Given the description of an element on the screen output the (x, y) to click on. 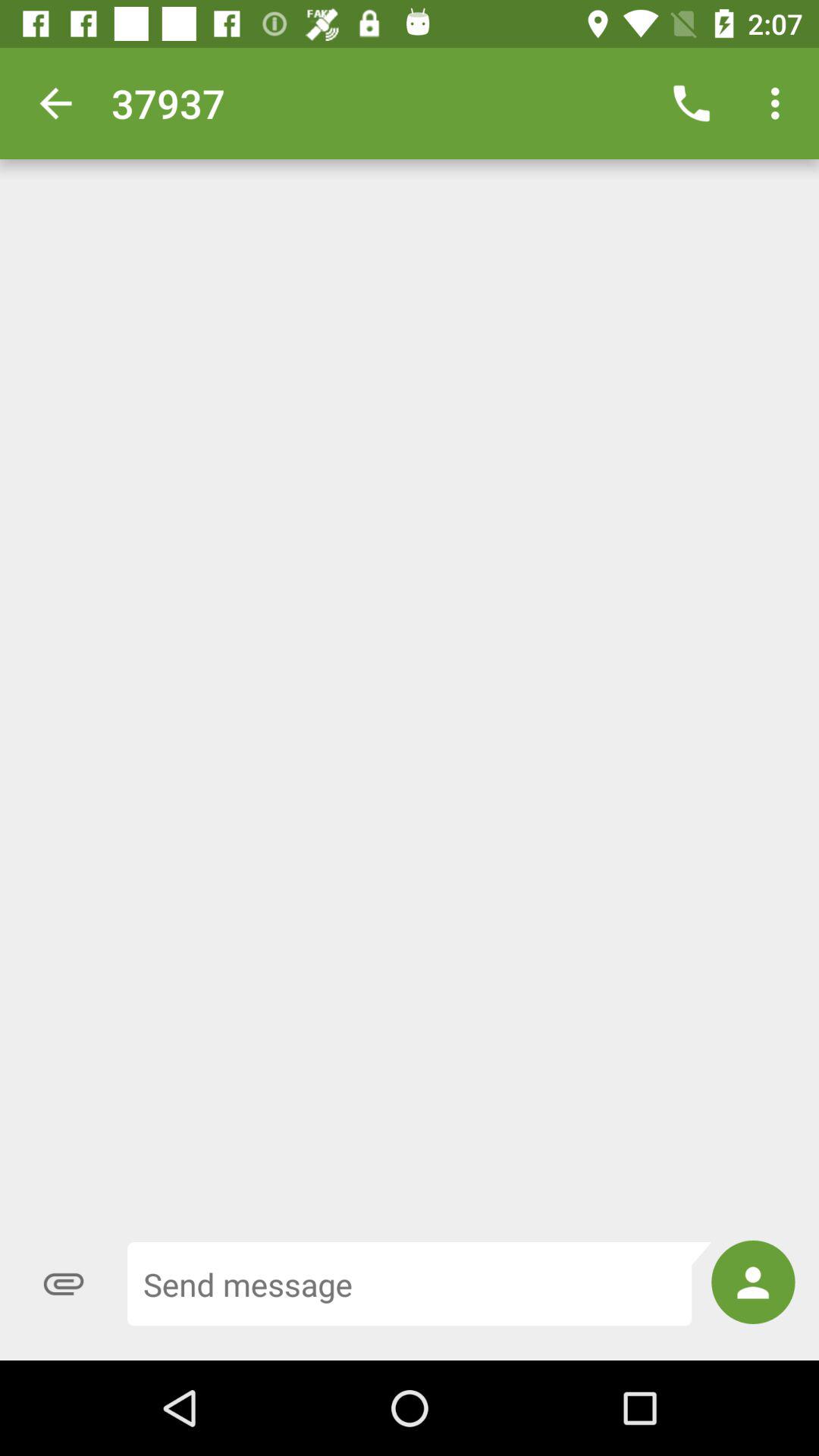
press the icon next to the 37937 (55, 103)
